Given the description of an element on the screen output the (x, y) to click on. 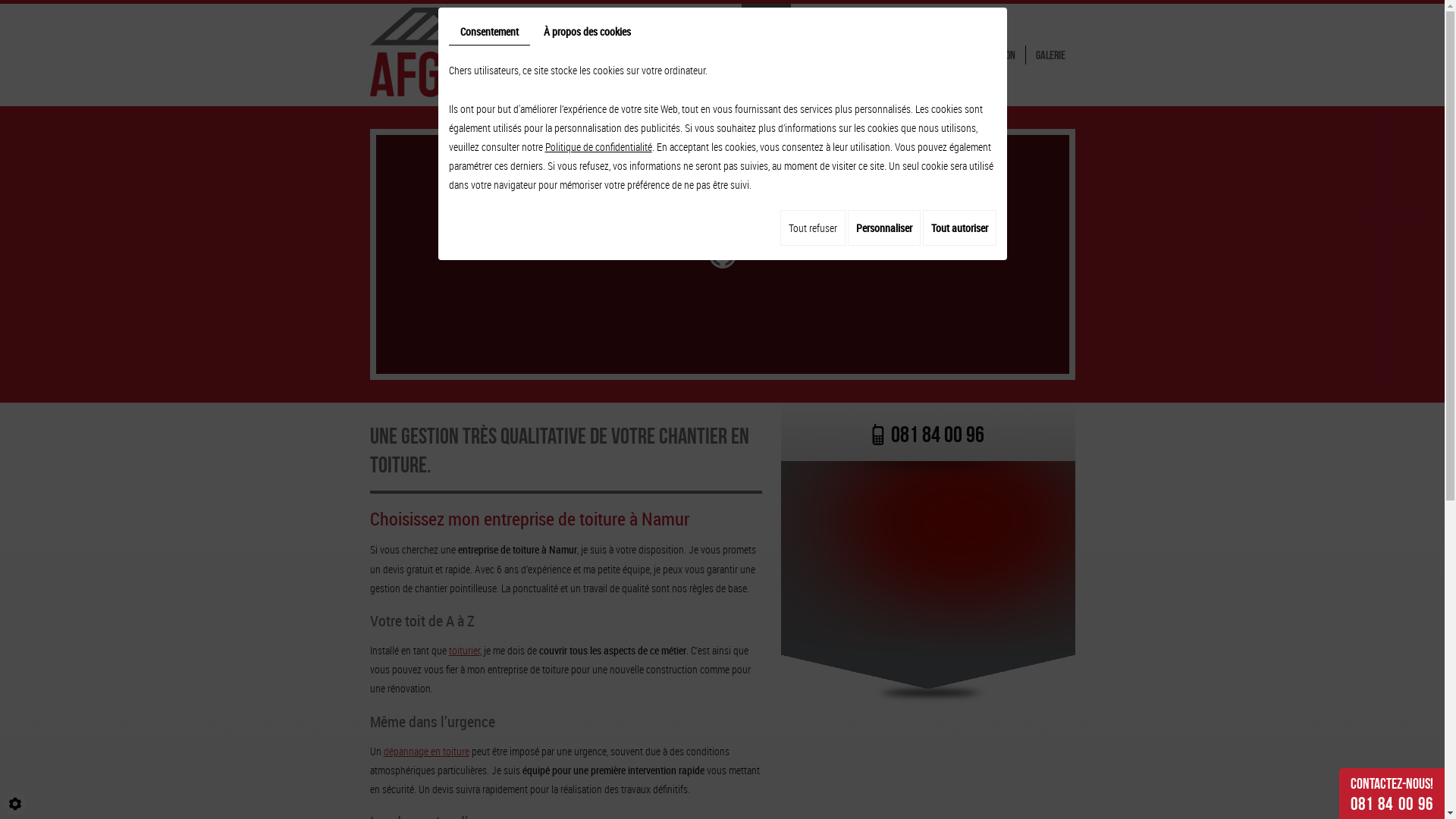
Galerie Element type: text (1049, 54)
Personnaliser Element type: text (883, 226)
AFGT SPRL Element type: hover (454, 50)
Accueil Element type: text (765, 54)
Tout autoriser Element type: text (958, 226)
toiturier Element type: text (464, 650)
Zinguerie Element type: text (939, 54)
Isolation Element type: text (997, 54)
Toitures Element type: text (818, 54)
Tout refuser Element type: text (811, 226)
AFGT SPRL Element type: hover (454, 48)
Consentement Element type: text (489, 31)
